Given the description of an element on the screen output the (x, y) to click on. 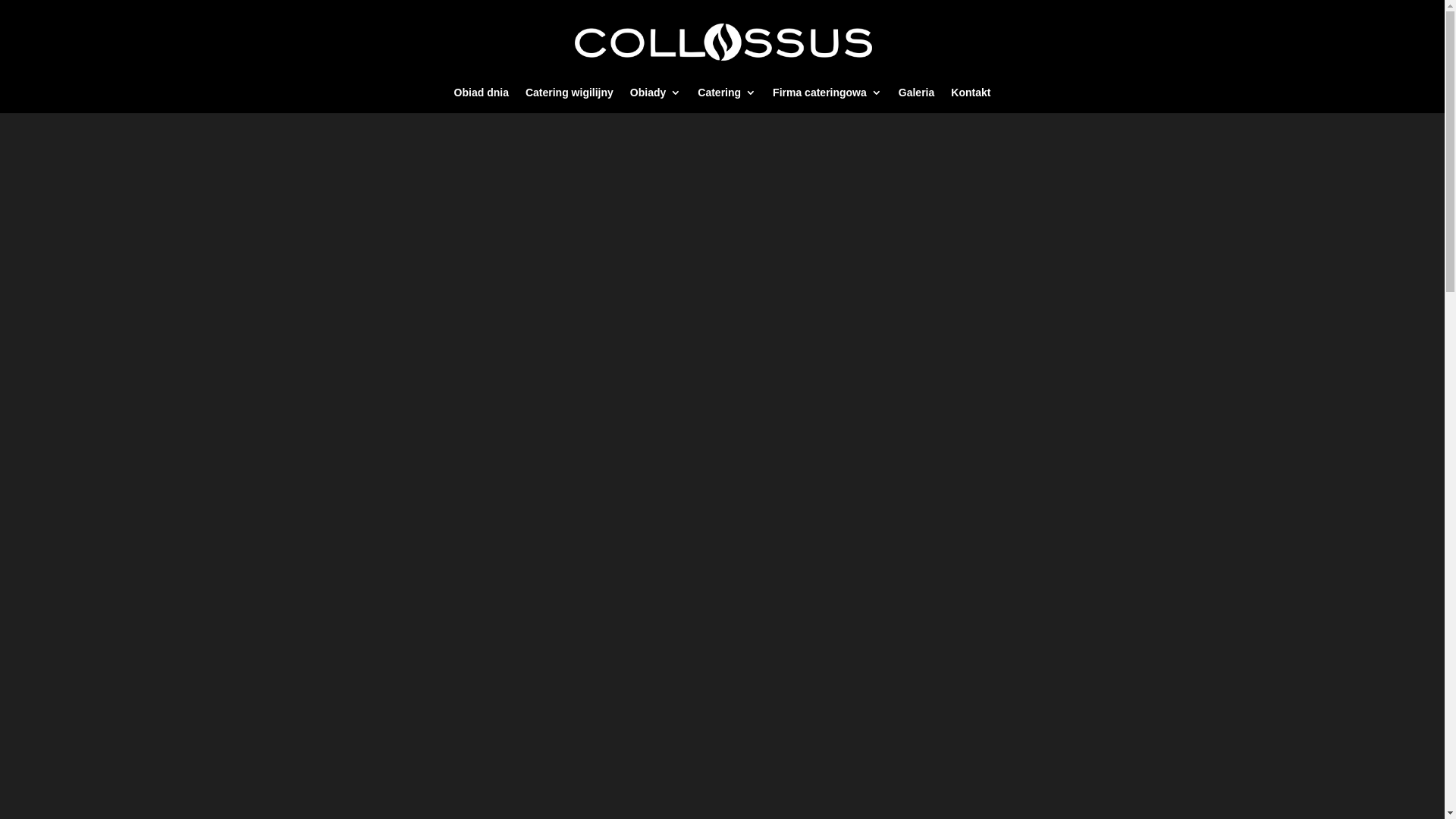
Galeria Element type: text (916, 99)
Firma cateringowa Element type: text (826, 99)
Kontakt Element type: text (970, 99)
Obiady Element type: text (655, 99)
Catering wigilijny Element type: text (569, 99)
Catering Element type: text (726, 99)
Obiad dnia Element type: text (481, 99)
